Given the description of an element on the screen output the (x, y) to click on. 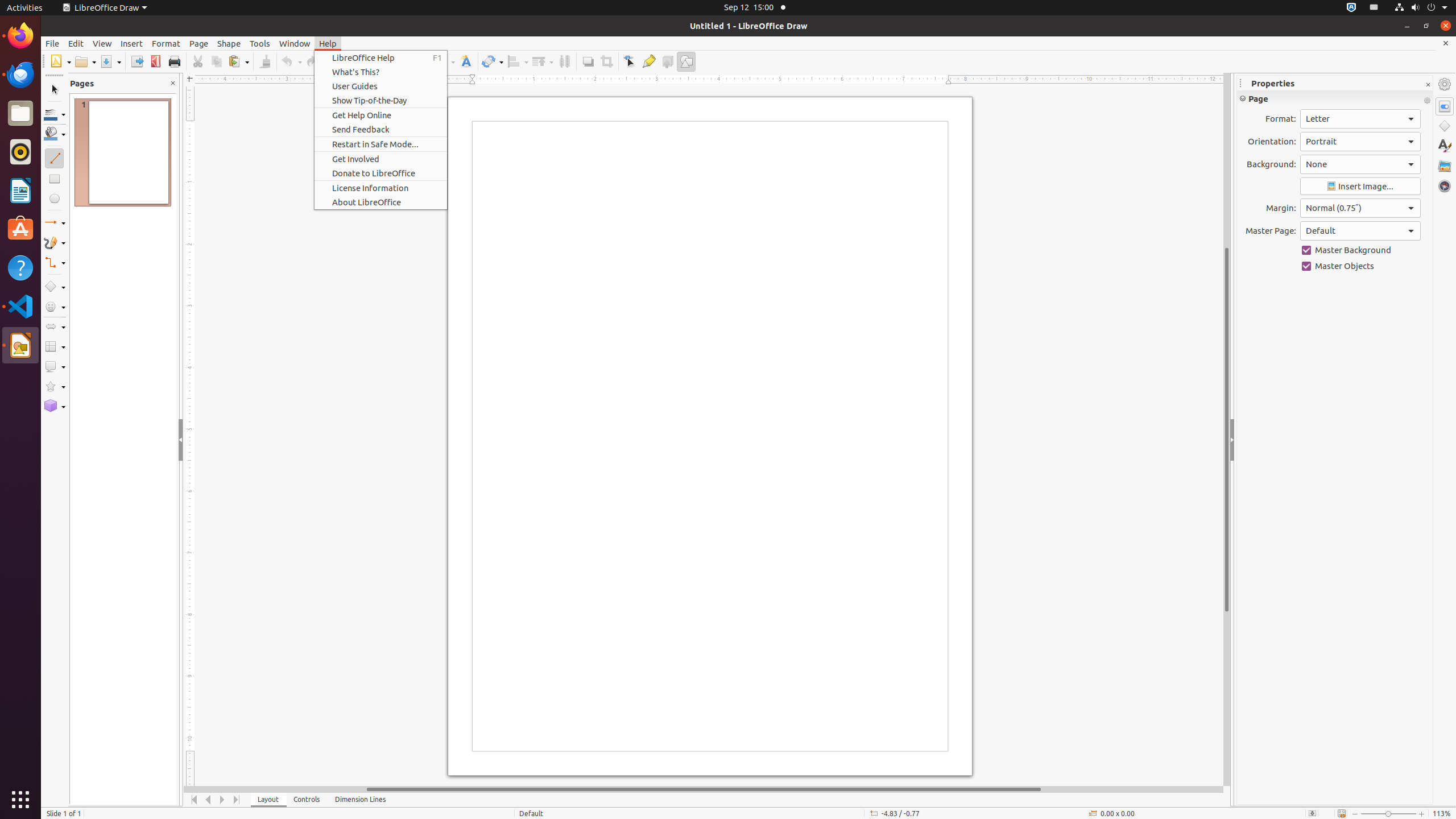
LibreOffice Draw Element type: menu (103, 7)
Page Element type: menu (198, 43)
Undo Element type: push-button (290, 61)
Background: Element type: combo-box (1360, 164)
Align Element type: push-button (517, 61)
